Given the description of an element on the screen output the (x, y) to click on. 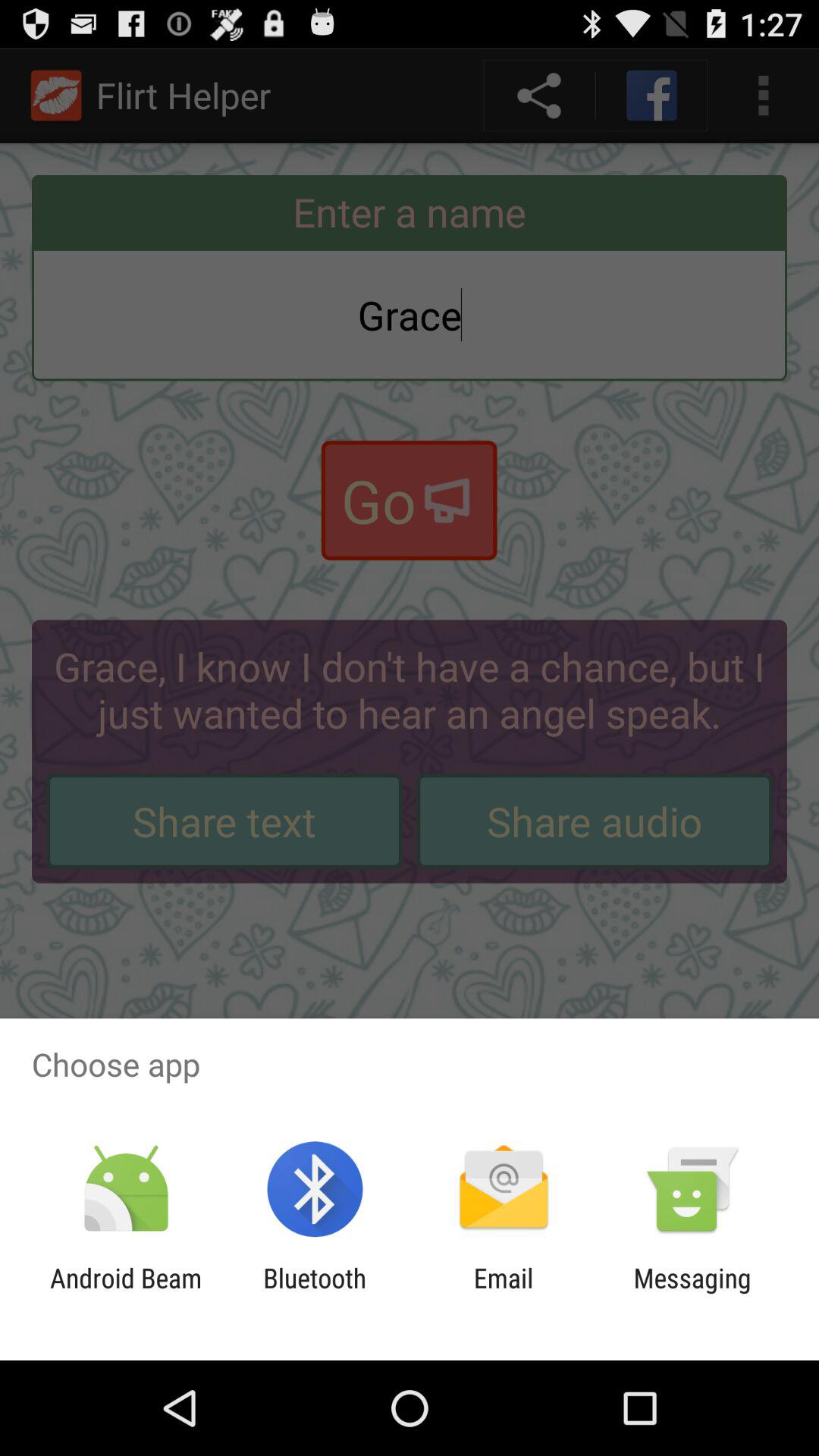
select the app next to bluetooth icon (503, 1293)
